Given the description of an element on the screen output the (x, y) to click on. 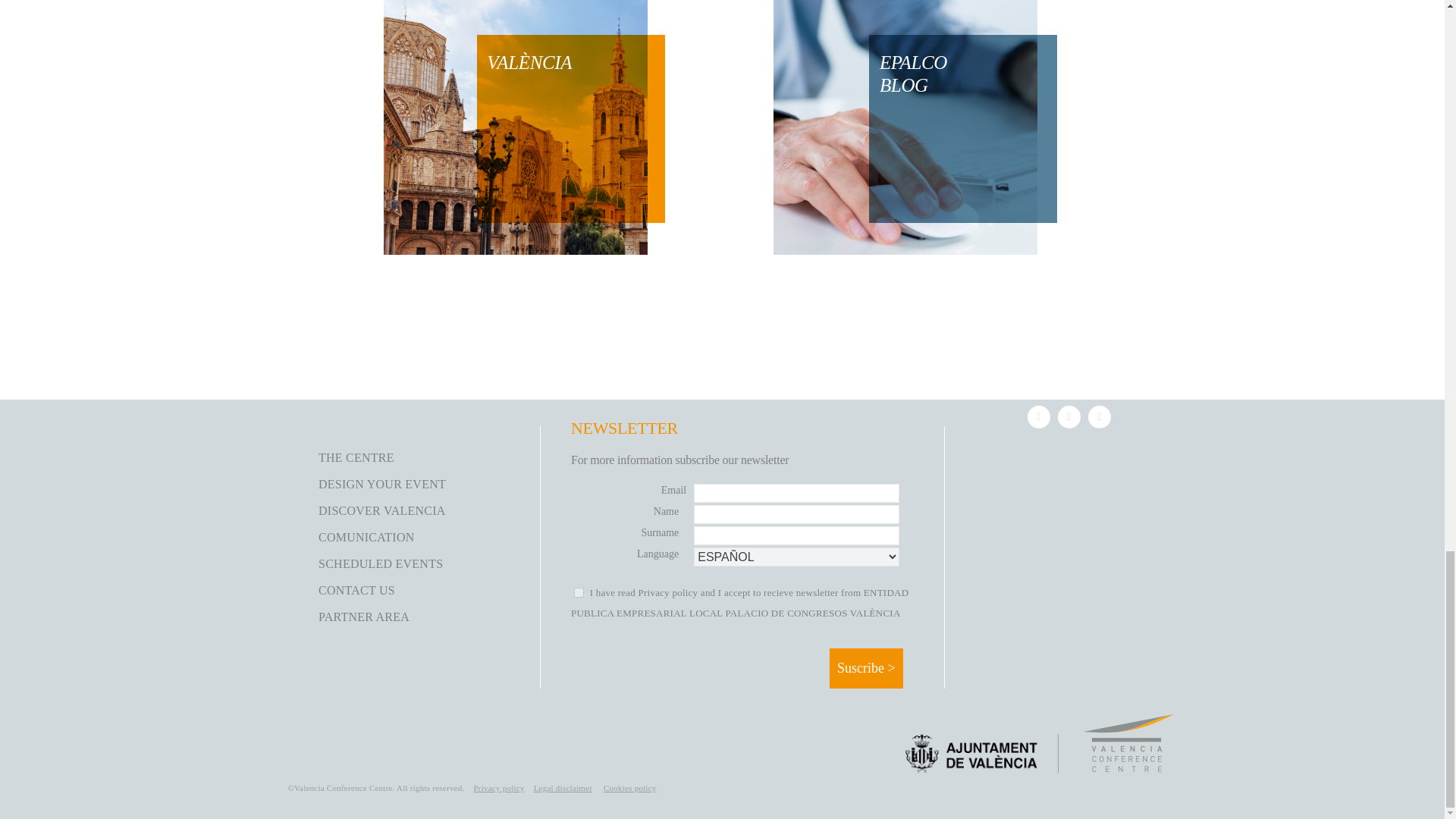
LinkedIn (1038, 416)
Logo Ajuntament VLC (970, 753)
Logo PalCong (1128, 743)
on (578, 592)
YouTube (1098, 416)
X (1069, 416)
